Given the description of an element on the screen output the (x, y) to click on. 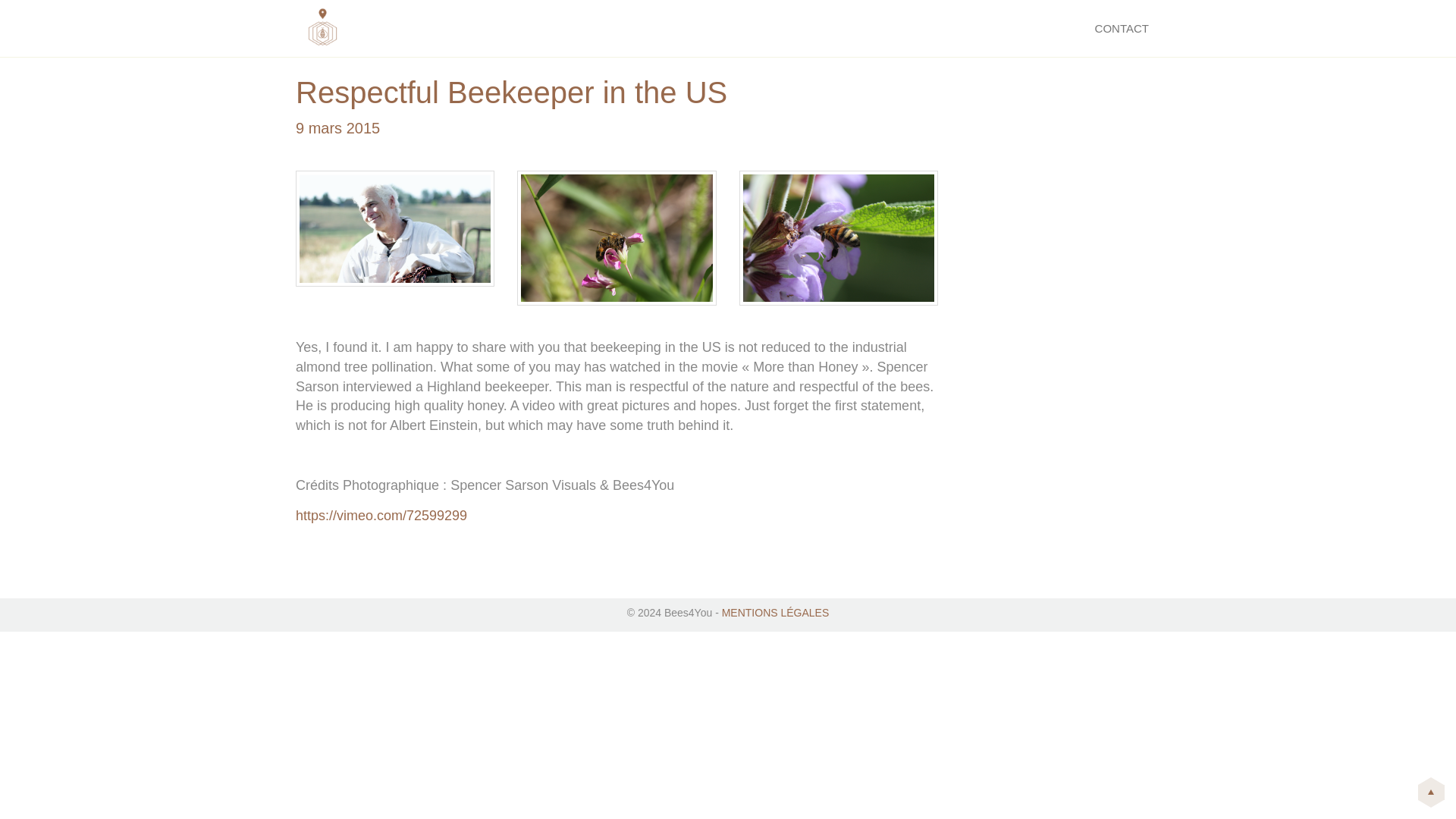
CONTACT (1121, 28)
